Given the description of an element on the screen output the (x, y) to click on. 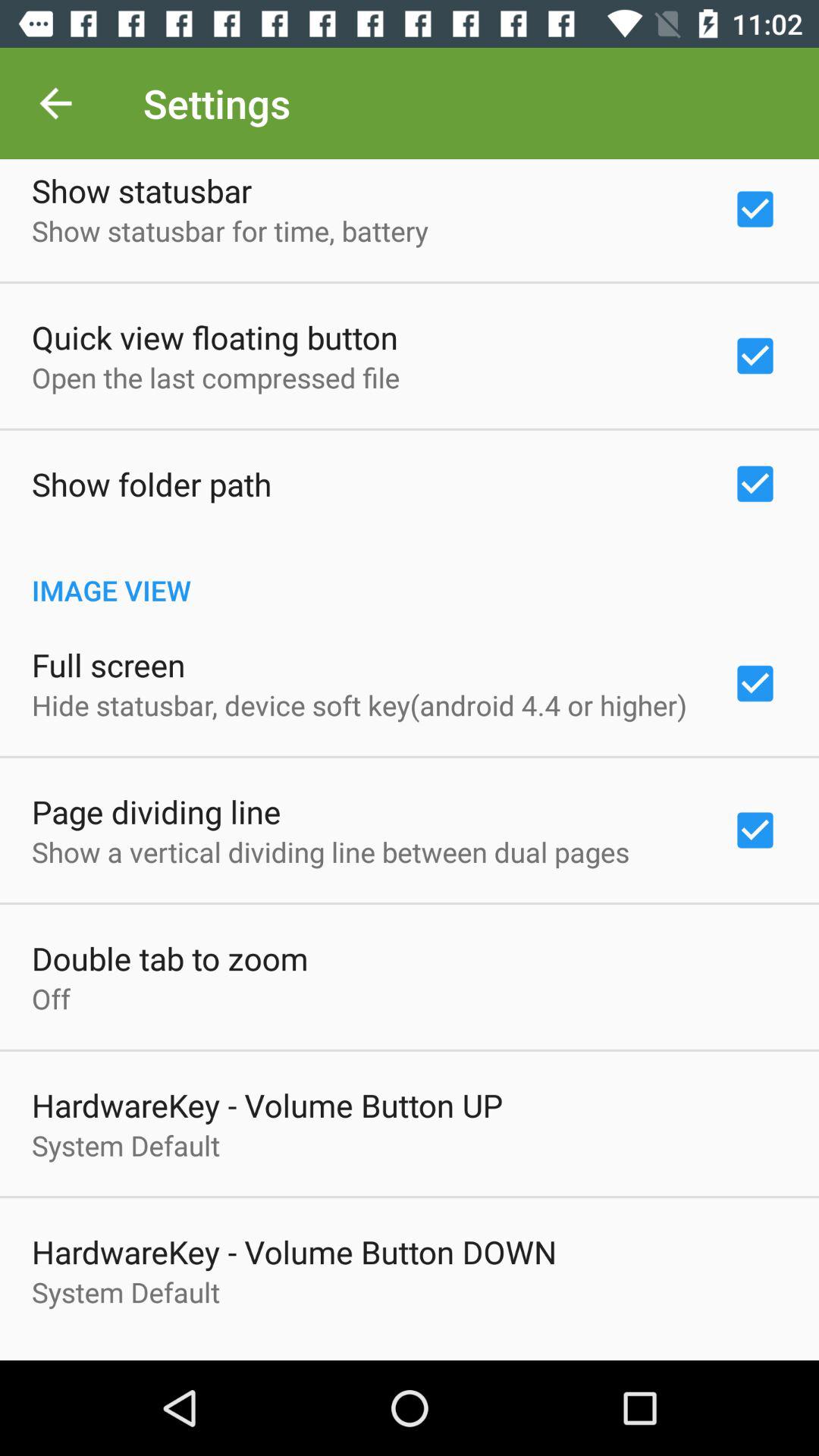
click the item below the image view icon (108, 664)
